Given the description of an element on the screen output the (x, y) to click on. 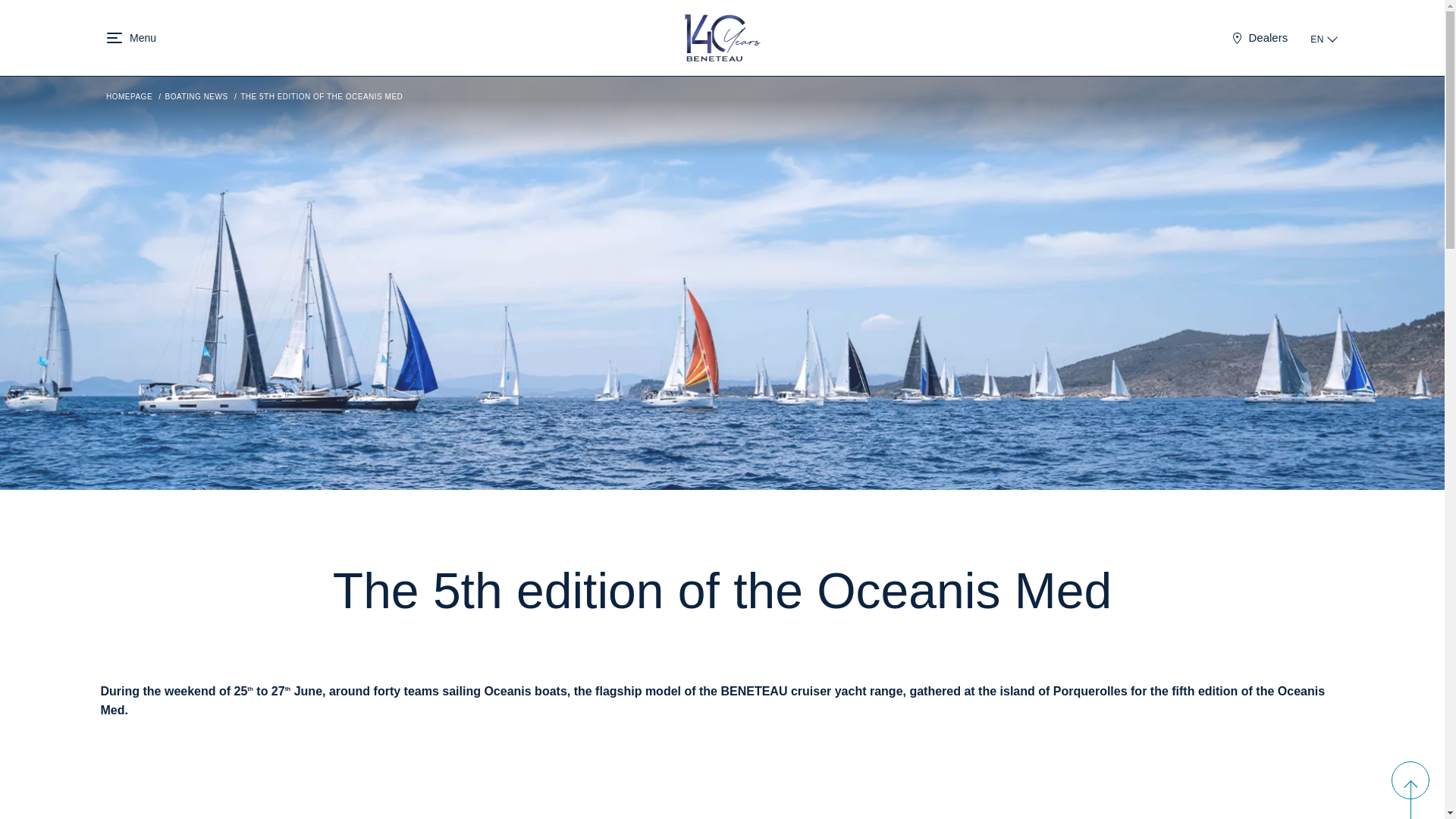
EN SELECT YOUR AREA AND YOUR LANGUAGE (1324, 38)
Dealers (1260, 37)
Dealers (1260, 37)
Menu (114, 38)
YouTube video player (389, 775)
SELECT YOUR AREA AND YOUR LANGUAGE (1332, 36)
Select your area and your language (1324, 38)
Menu (114, 38)
